Given the description of an element on the screen output the (x, y) to click on. 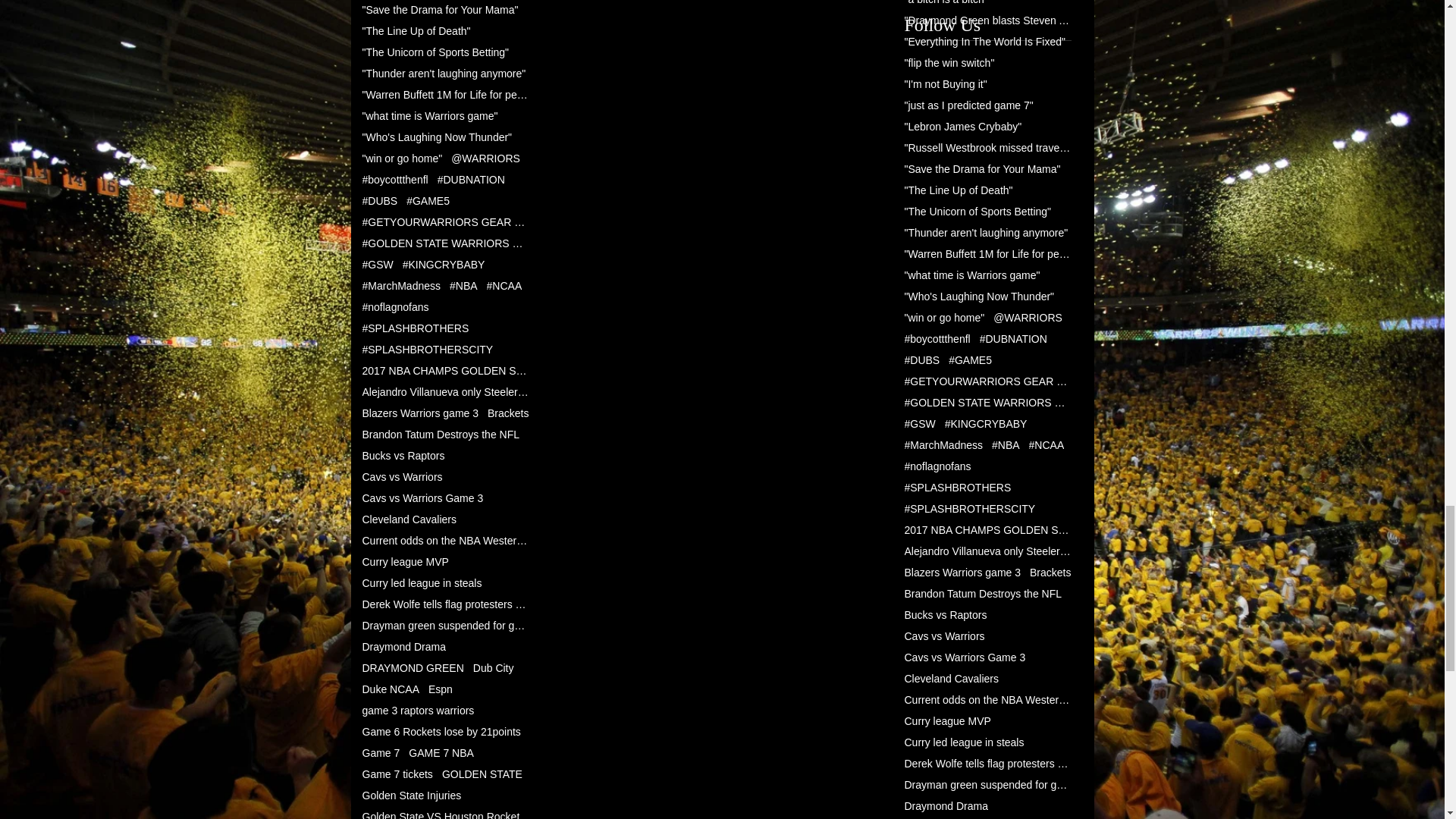
"The Unicorn of Sports Betting" (435, 51)
"Thunder aren't laughing anymore" (443, 73)
"The Line Up of Death" (416, 30)
"Save the Drama for Your Mama" (440, 9)
"Warren Buffett 1M for Life for perfect Brack (445, 94)
"win or go home" (402, 158)
"Who's Laughing Now Thunder" (437, 137)
"what time is Warriors game" (429, 115)
